Given the description of an element on the screen output the (x, y) to click on. 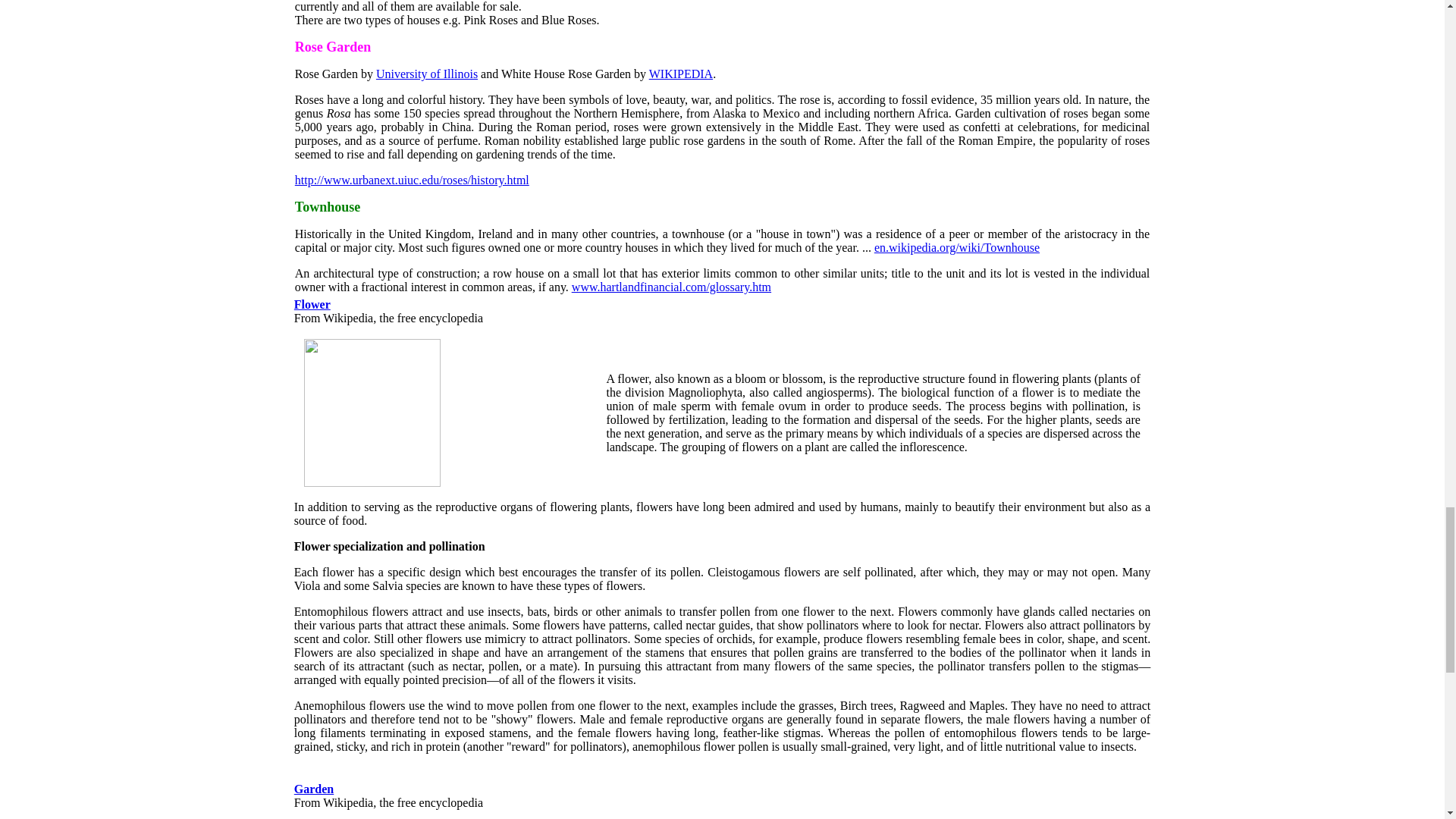
University of Illinois (426, 73)
WIKIPEDIA (681, 73)
Flower (312, 304)
Garden (313, 788)
